Given the description of an element on the screen output the (x, y) to click on. 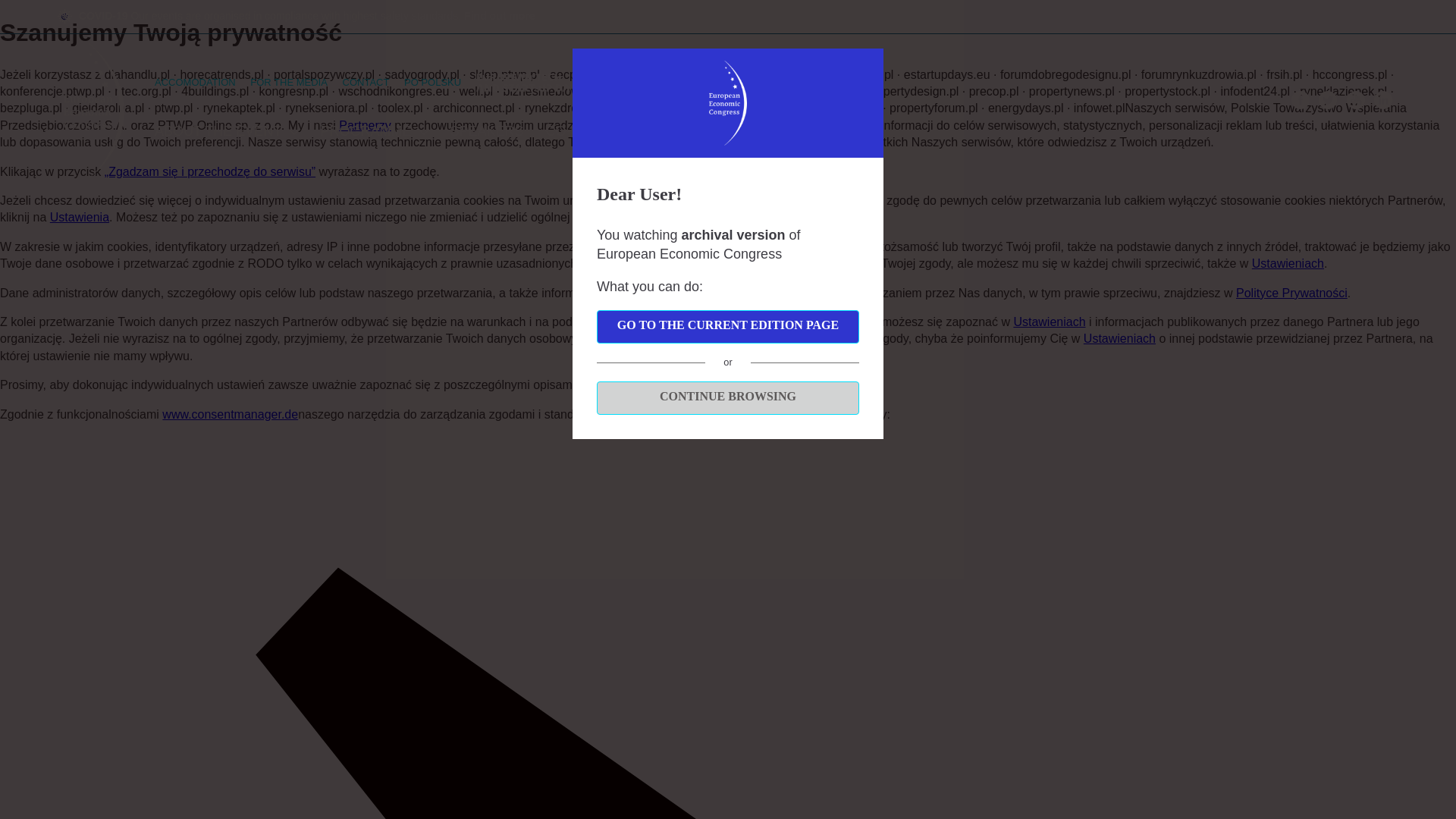
FOR THE MEDIA (288, 81)
ACCOMODATION (194, 81)
CO-OPERATION (596, 130)
Find out more (499, 15)
CONTACT (366, 81)
PO POLSKU (432, 81)
SPEAKERS (485, 130)
PARTNERS (707, 130)
ABOUT THE EVENT (226, 130)
PROGRAMME (374, 130)
